Given the description of an element on the screen output the (x, y) to click on. 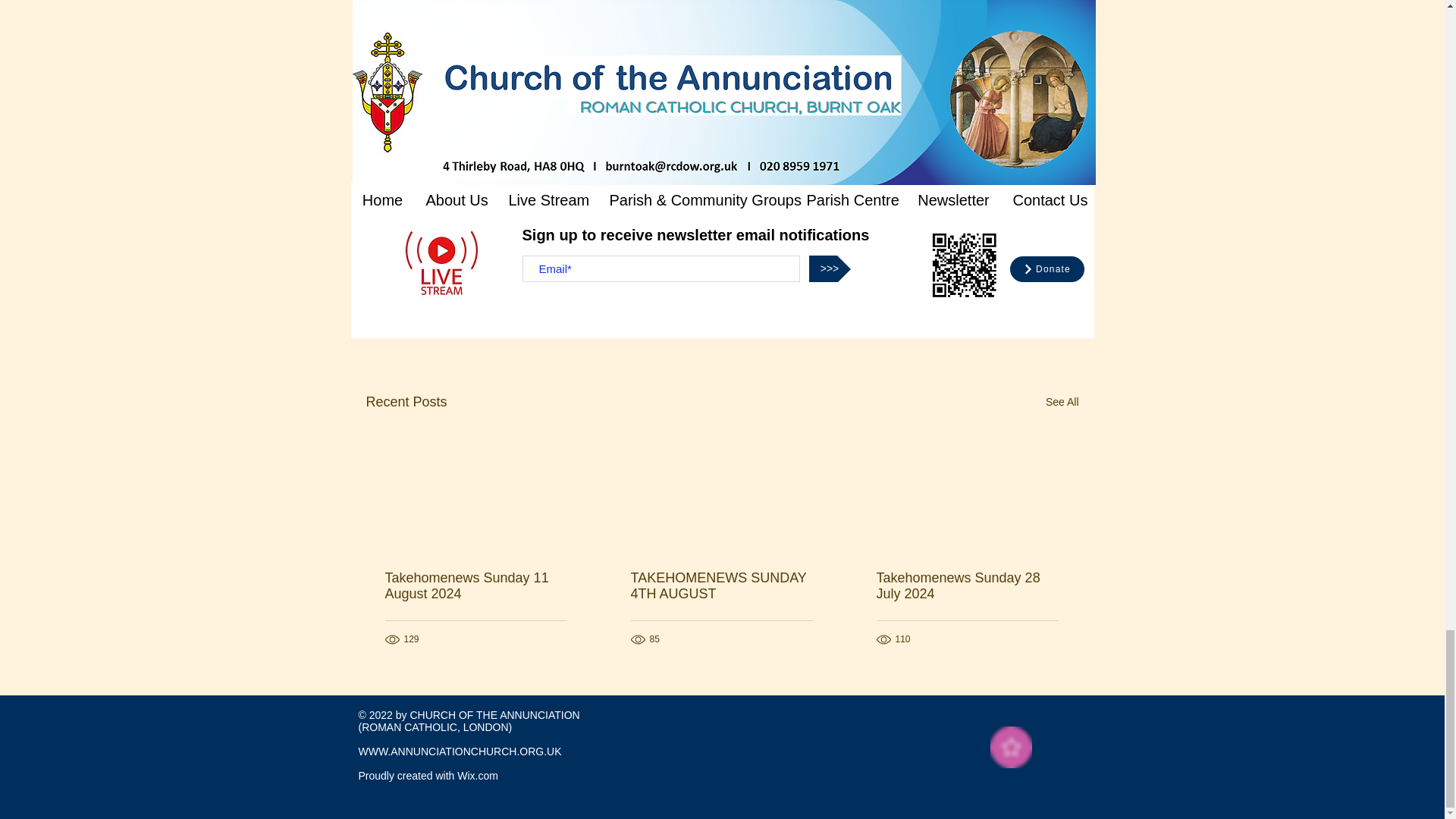
Takehomenews Sunday 28 July 2024 (967, 585)
WWW.ANNUNCIATIONCHURCH.ORG.UK (459, 751)
See All (1061, 402)
TAKEHOMENEWS SUNDAY 4TH AUGUST (721, 585)
Wix.com (477, 775)
Takehomenews Sunday 11 August 2024 (476, 585)
